Given the description of an element on the screen output the (x, y) to click on. 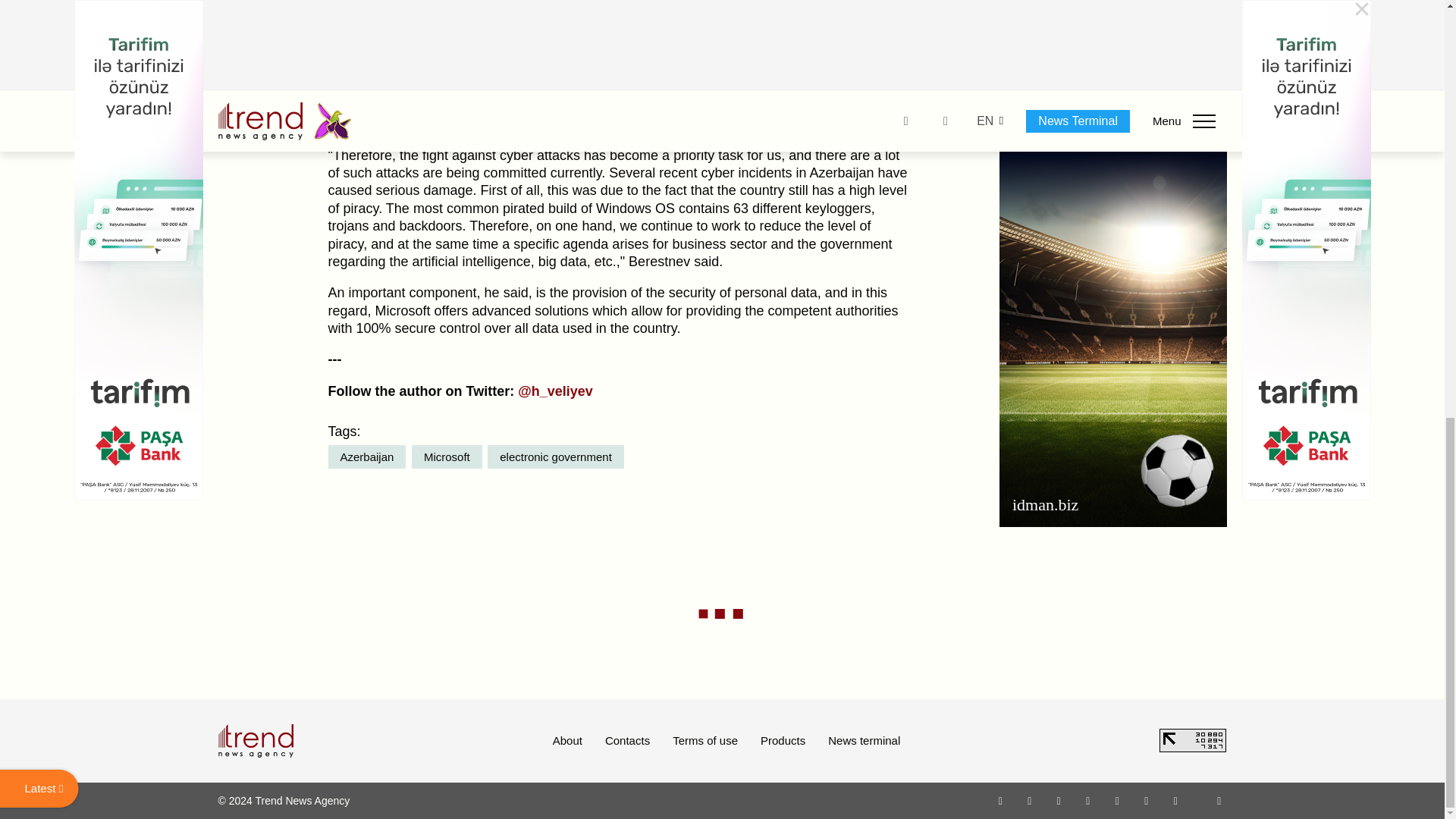
Youtube (1088, 800)
Twitter (1059, 800)
LinkedIn (1146, 800)
Android App (1176, 800)
RSS Feed (1219, 800)
Facebook (1029, 800)
Telegram (1117, 800)
Whatsapp (1000, 800)
